Given the description of an element on the screen output the (x, y) to click on. 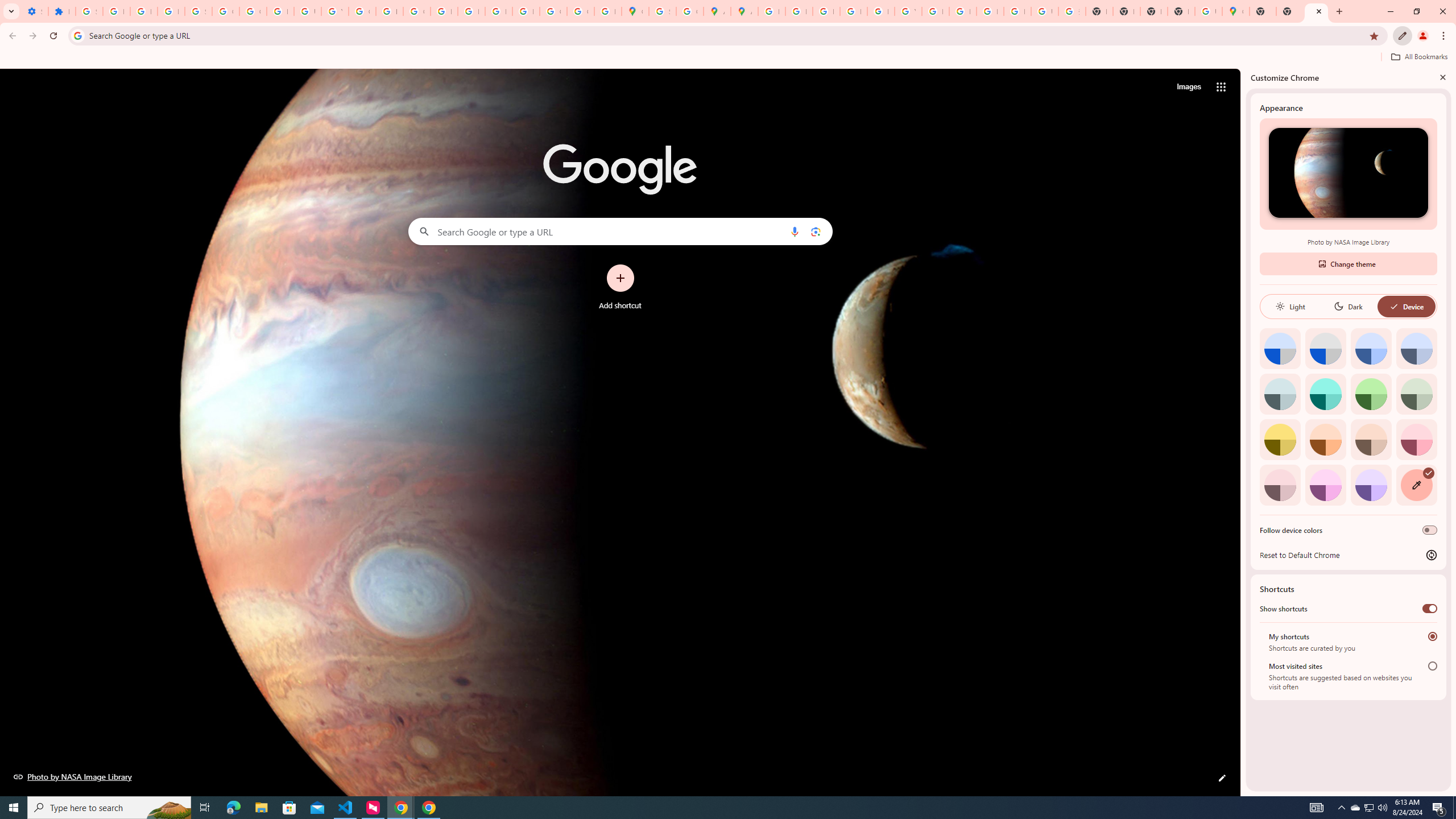
Orange (1325, 439)
YouTube (334, 11)
New Tab (1289, 11)
Grey (1279, 393)
Device (1406, 305)
